Given the description of an element on the screen output the (x, y) to click on. 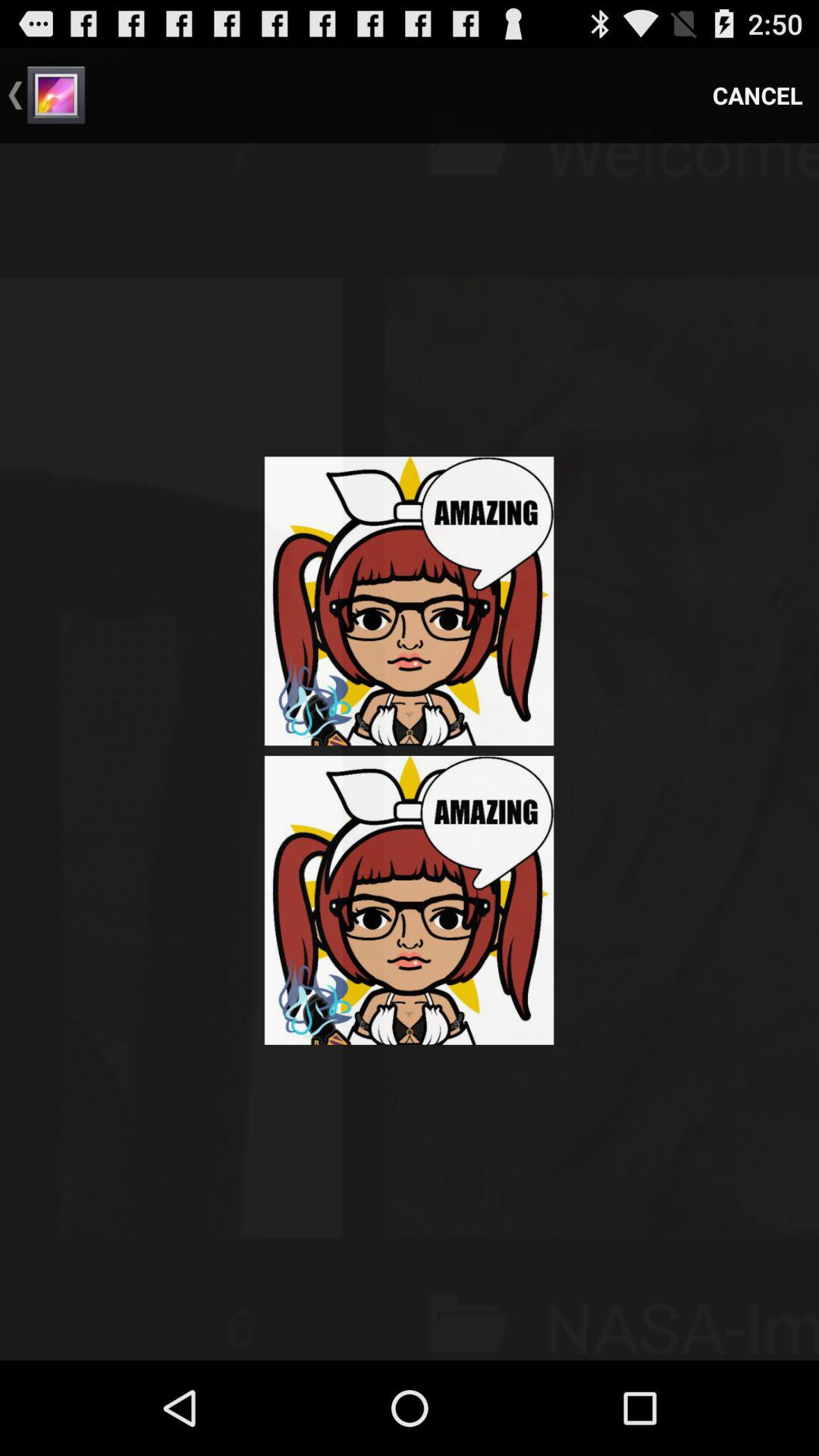
flip to cancel (757, 95)
